Given the description of an element on the screen output the (x, y) to click on. 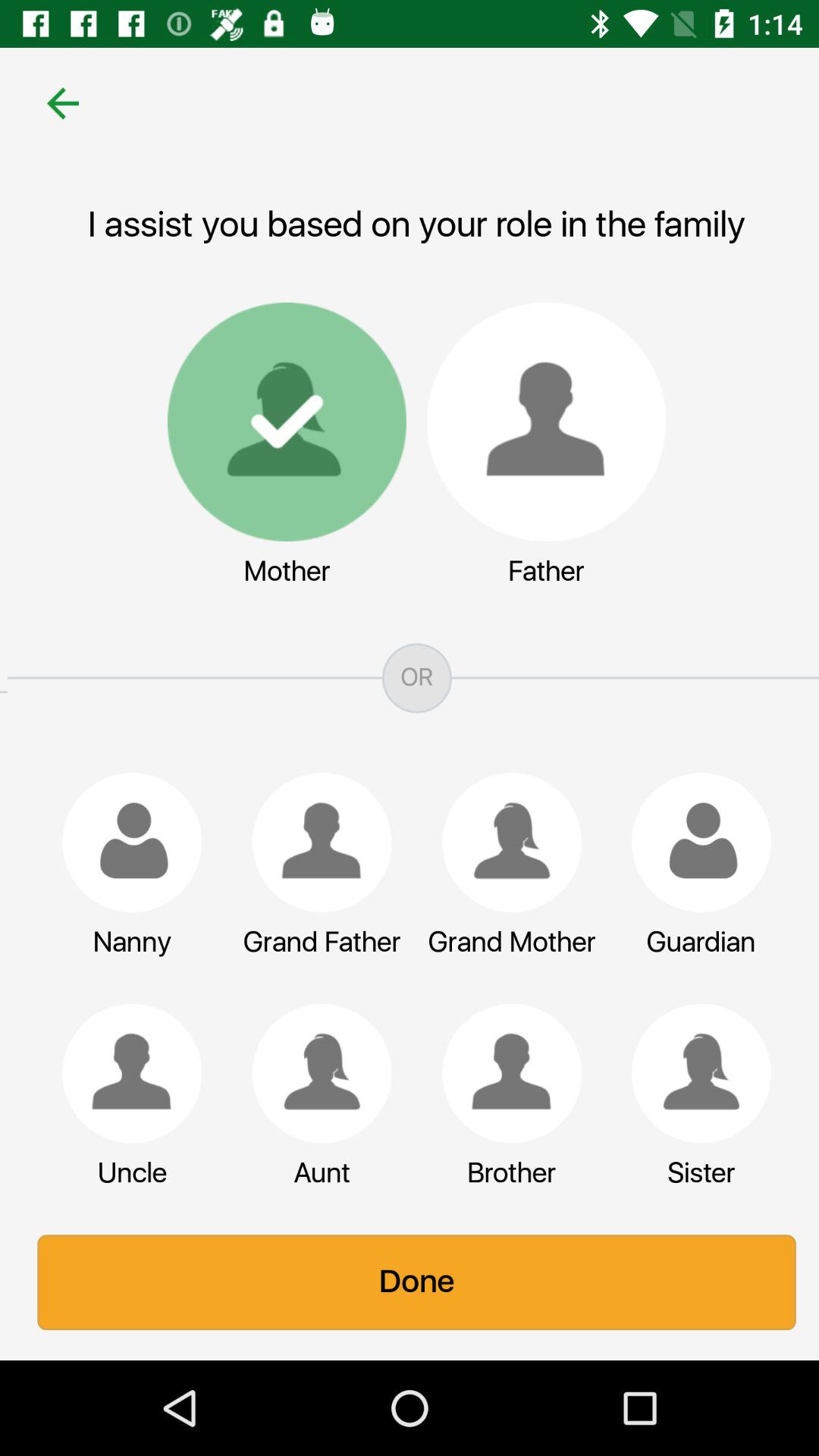
choose the item to the right of grand mother icon (693, 842)
